Given the description of an element on the screen output the (x, y) to click on. 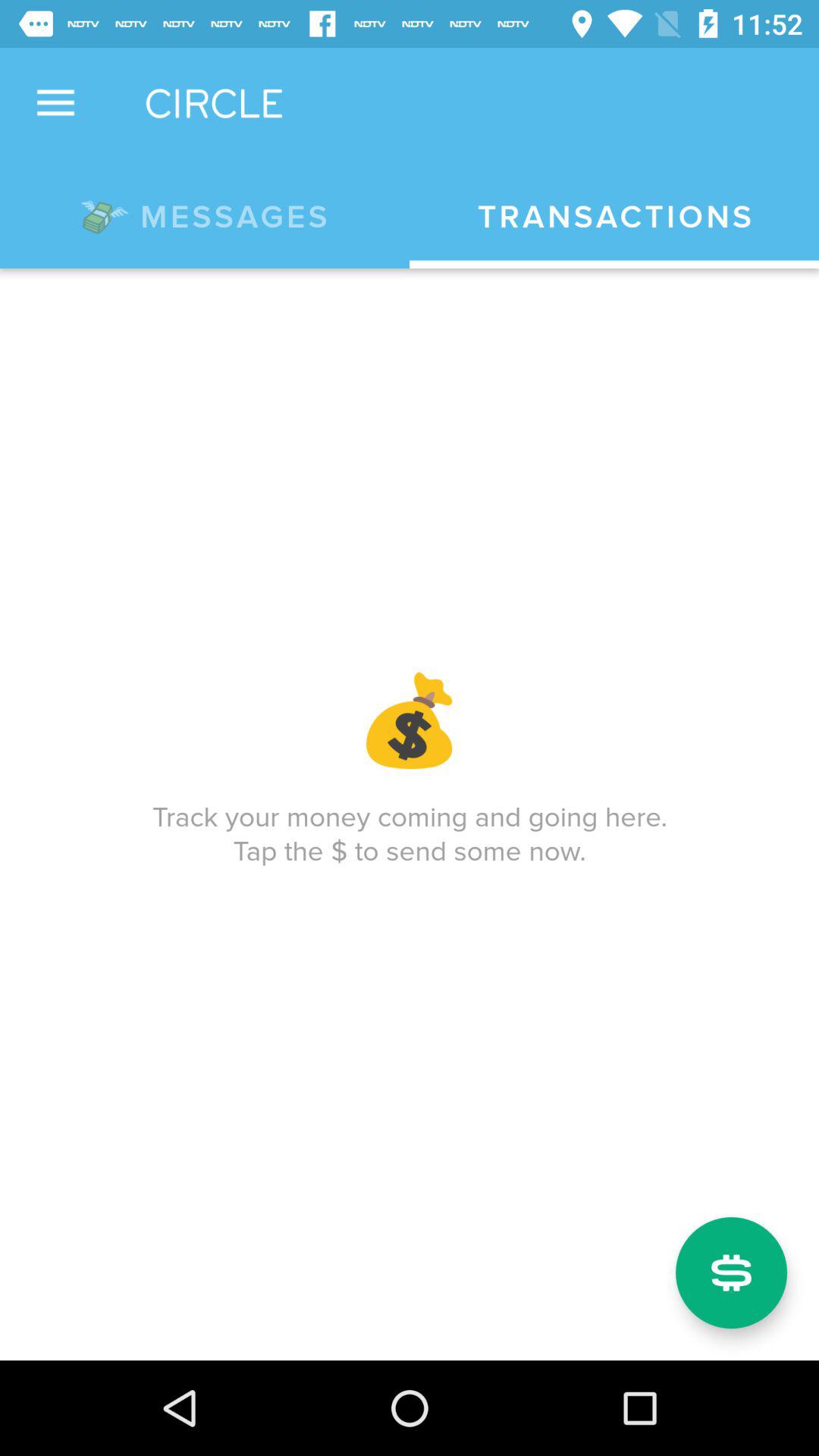
flip until transactions item (614, 217)
